Given the description of an element on the screen output the (x, y) to click on. 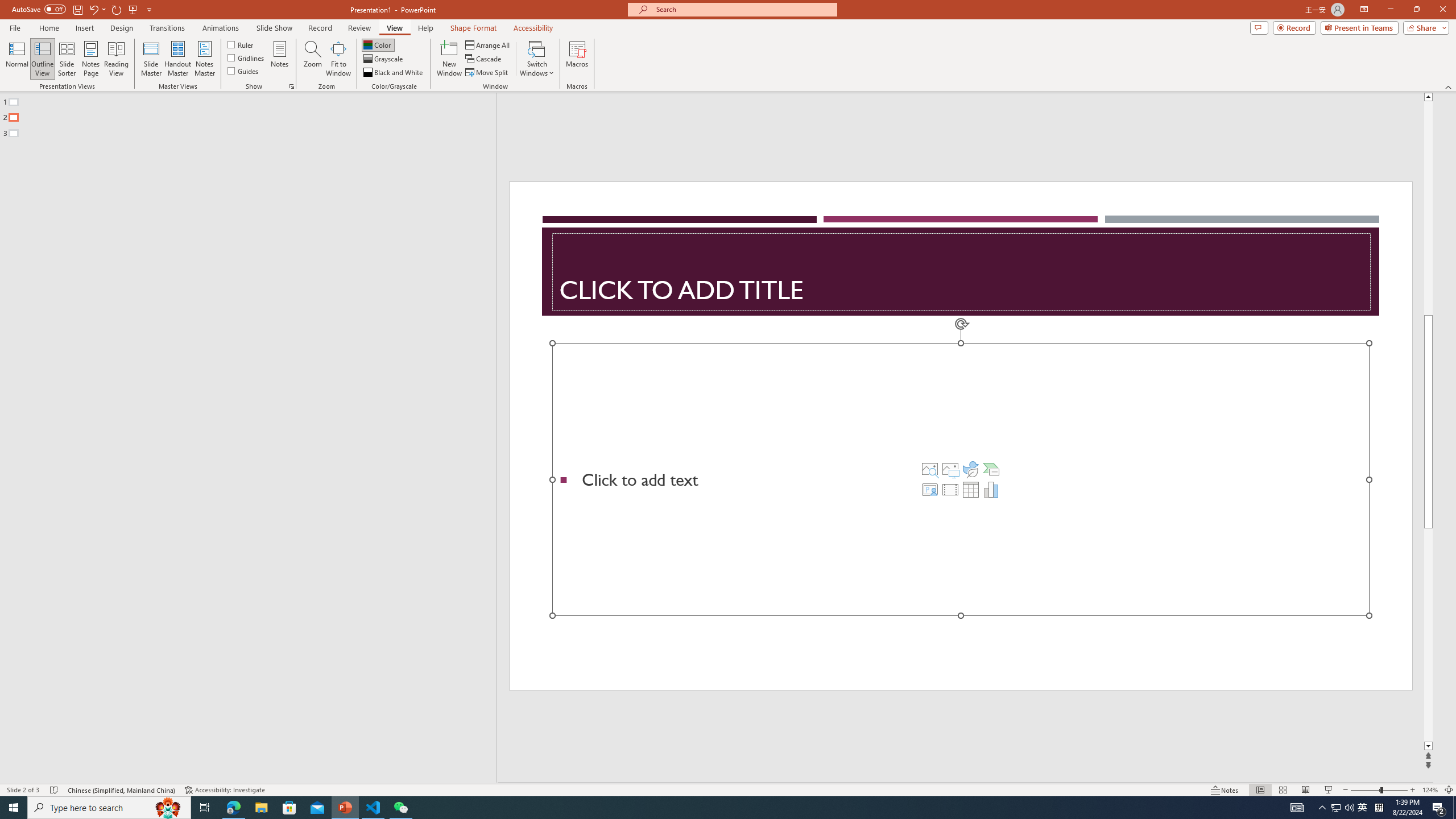
Arrange All (488, 44)
Content Placeholder (960, 479)
Outline View (42, 58)
Color (377, 44)
